Given the description of an element on the screen output the (x, y) to click on. 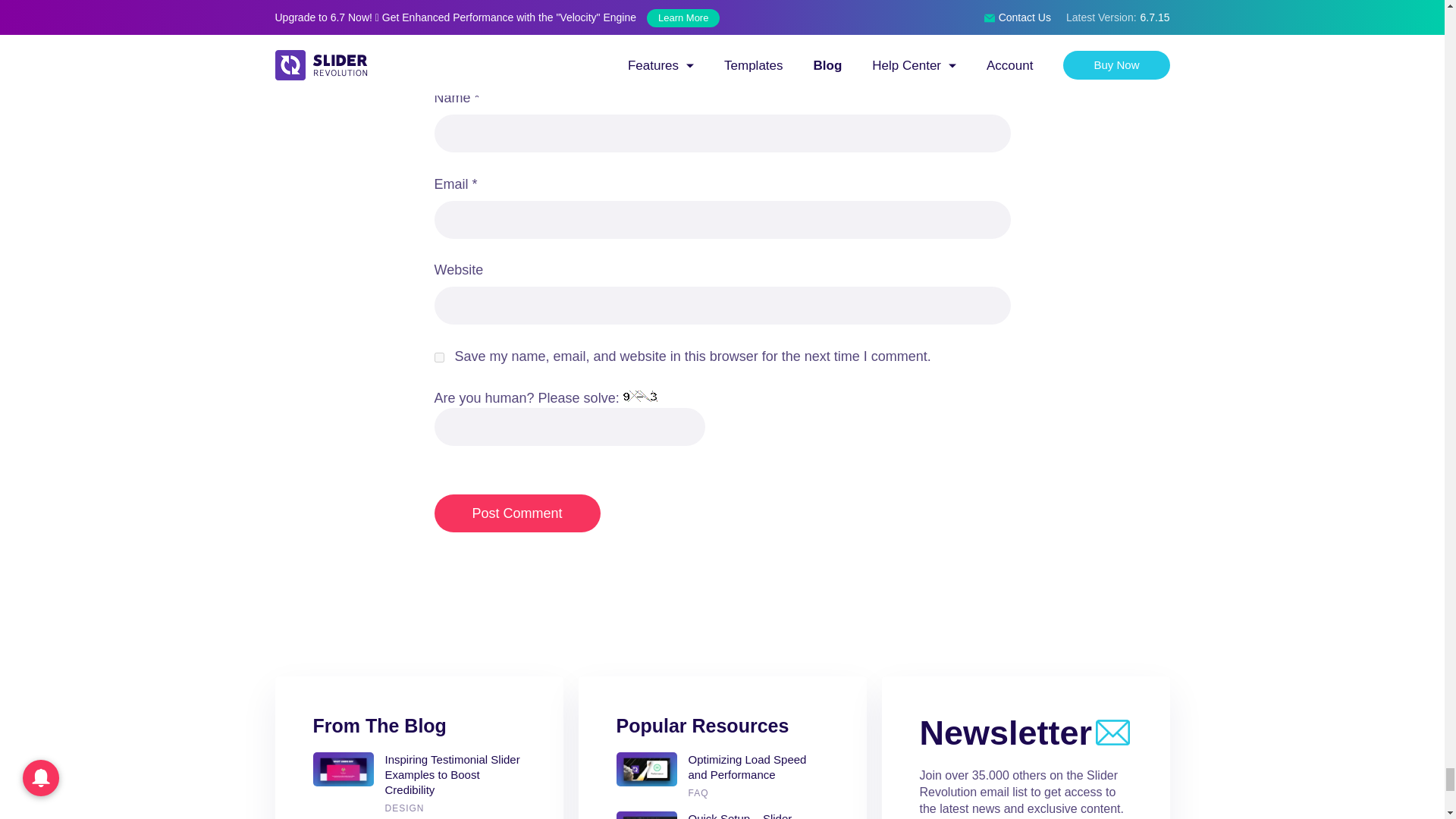
yes (438, 357)
Post Comment (516, 513)
